Given the description of an element on the screen output the (x, y) to click on. 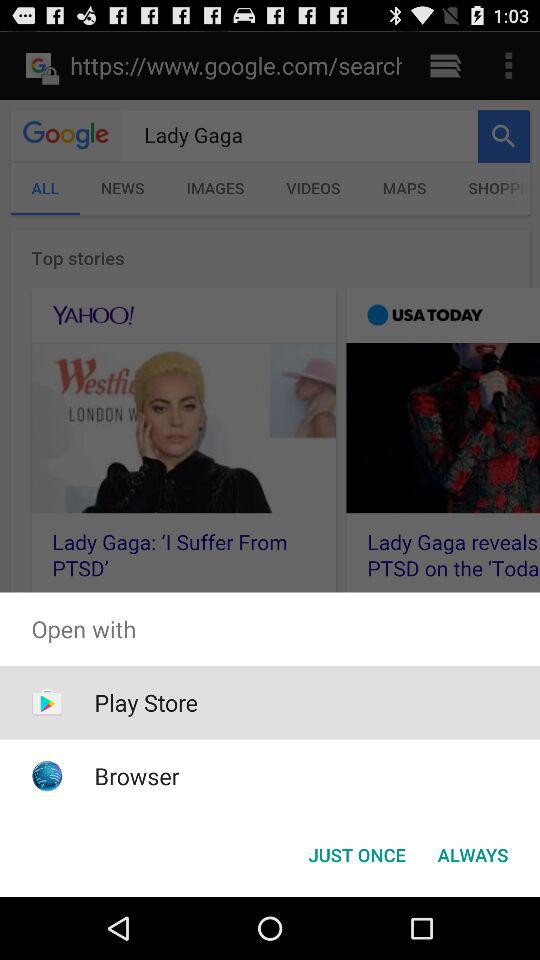
press the button to the left of the always item (356, 854)
